Given the description of an element on the screen output the (x, y) to click on. 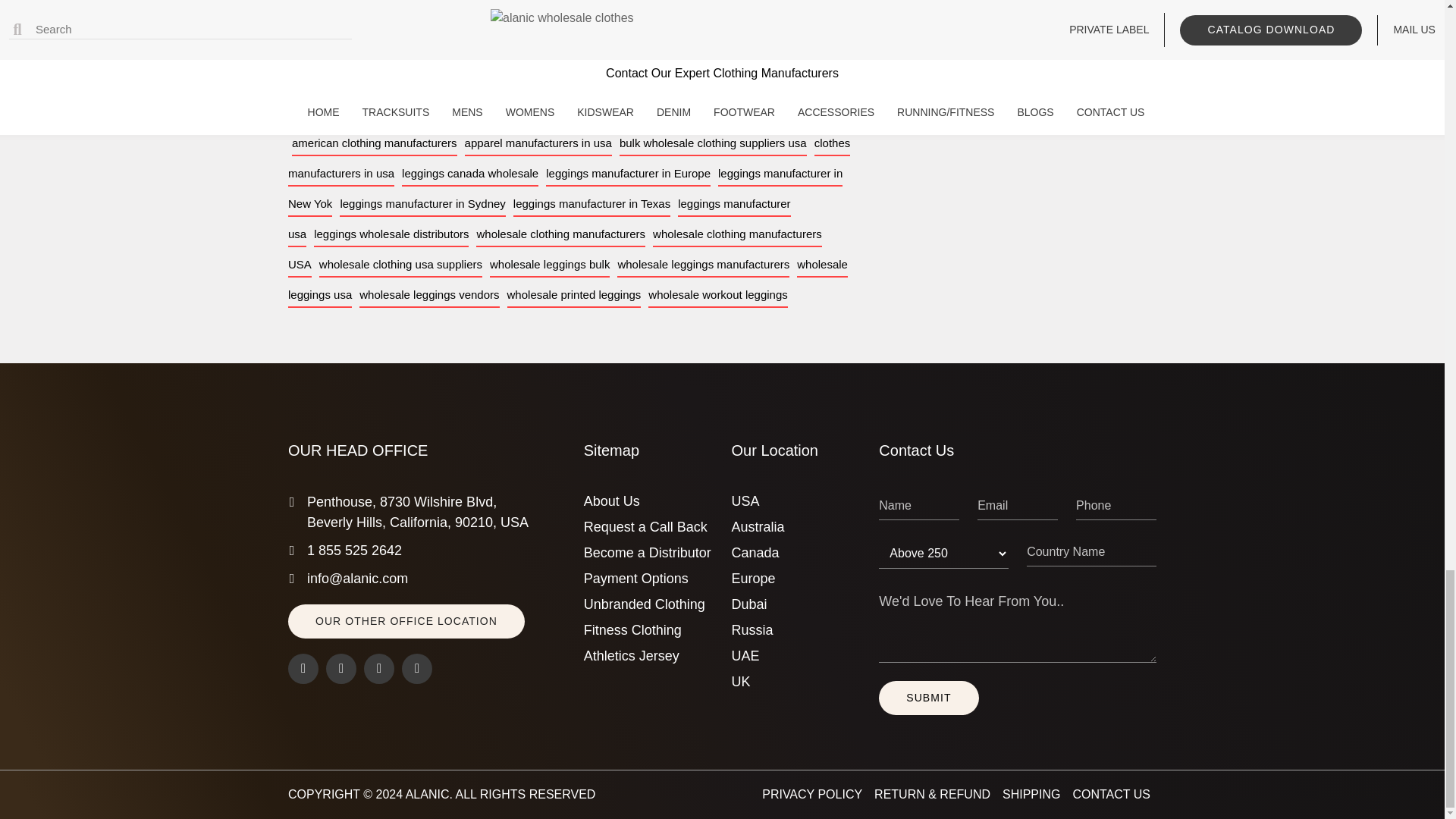
Submit (928, 697)
leggings wholesale distributors (391, 234)
leggings manufacturer usa (539, 219)
leggings manufacturer in Texas (591, 204)
american clothing manufacturers (374, 143)
apparel manufacturers in usa (537, 143)
leggings canada wholesale (469, 173)
leggings manufacturer in New Yok (565, 189)
bulk wholesale clothing suppliers usa (713, 143)
leggings manufacturer in Europe (628, 173)
